Given the description of an element on the screen output the (x, y) to click on. 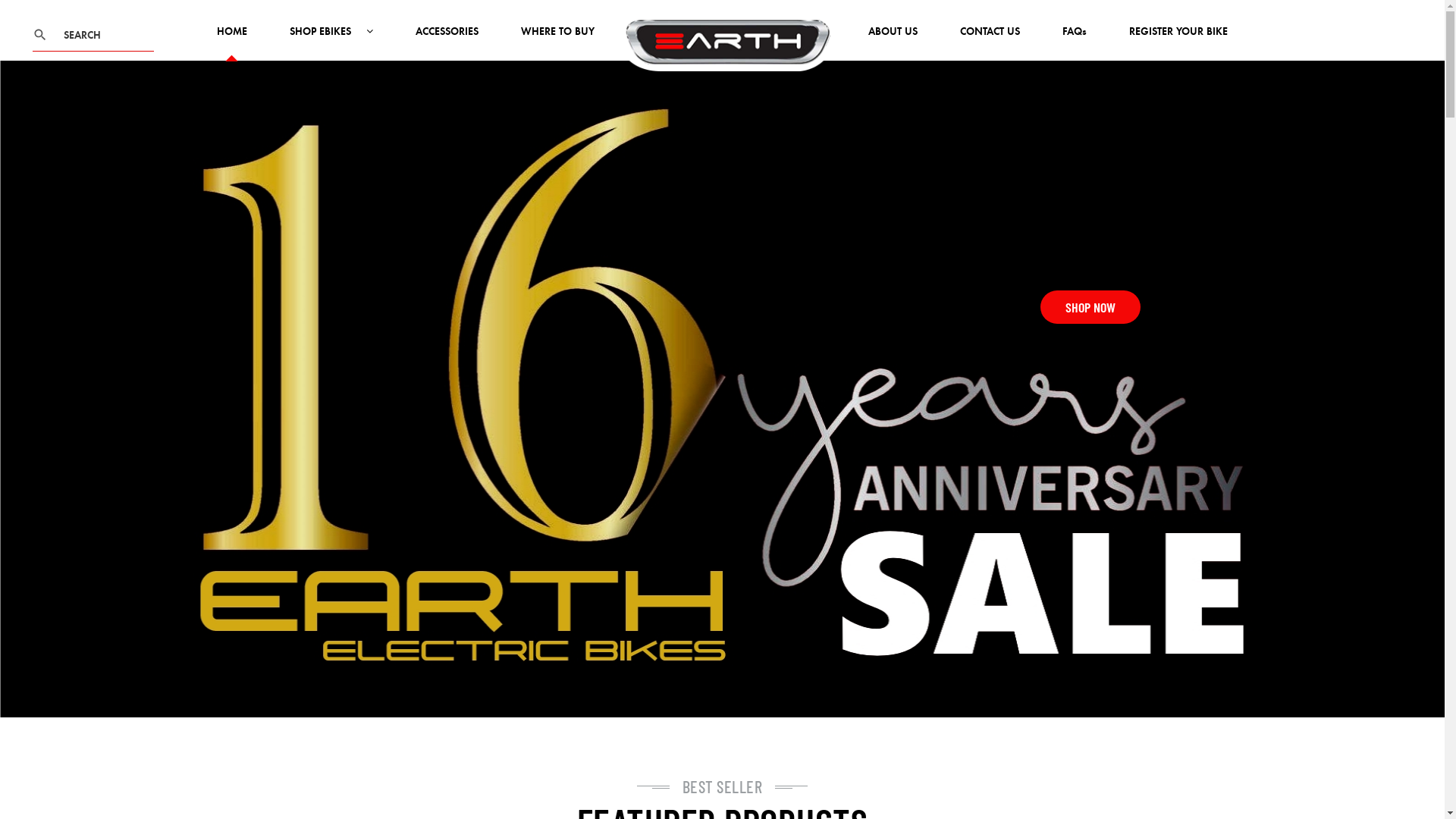
ABOUT US Element type: text (892, 43)
SHOP NOW Element type: text (1090, 306)
SHOP EBIKES Element type: text (331, 43)
REGISTER YOUR BIKE Element type: text (1178, 43)
FAQs Element type: text (1074, 43)
CONTACT US Element type: text (989, 43)
WHERE TO BUY Element type: text (557, 43)
ACCESSORIES Element type: text (446, 43)
HOME Element type: text (231, 43)
OFF ROAD Unlimited With 1100WH Battery Capacity Element type: text (722, 77)
